Given the description of an element on the screen output the (x, y) to click on. 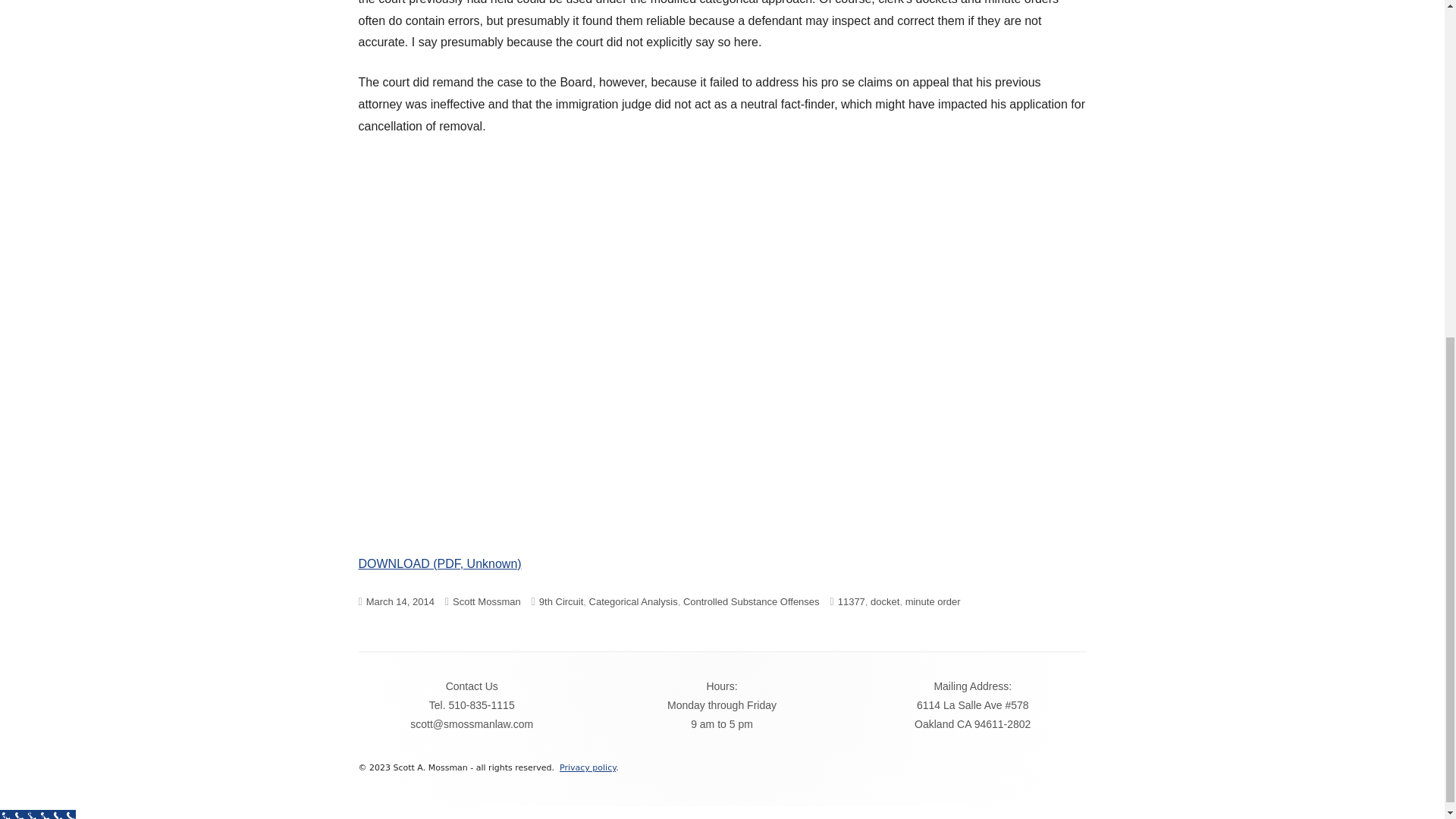
docket (884, 601)
Controlled Substance Offenses (750, 601)
Categorical Analysis (633, 601)
minute order (932, 601)
Contact Us (471, 686)
11377 (851, 601)
March 14, 2014 (399, 601)
9th Circuit (560, 601)
Scott Mossman (486, 601)
Privacy policy (587, 767)
